Given the description of an element on the screen output the (x, y) to click on. 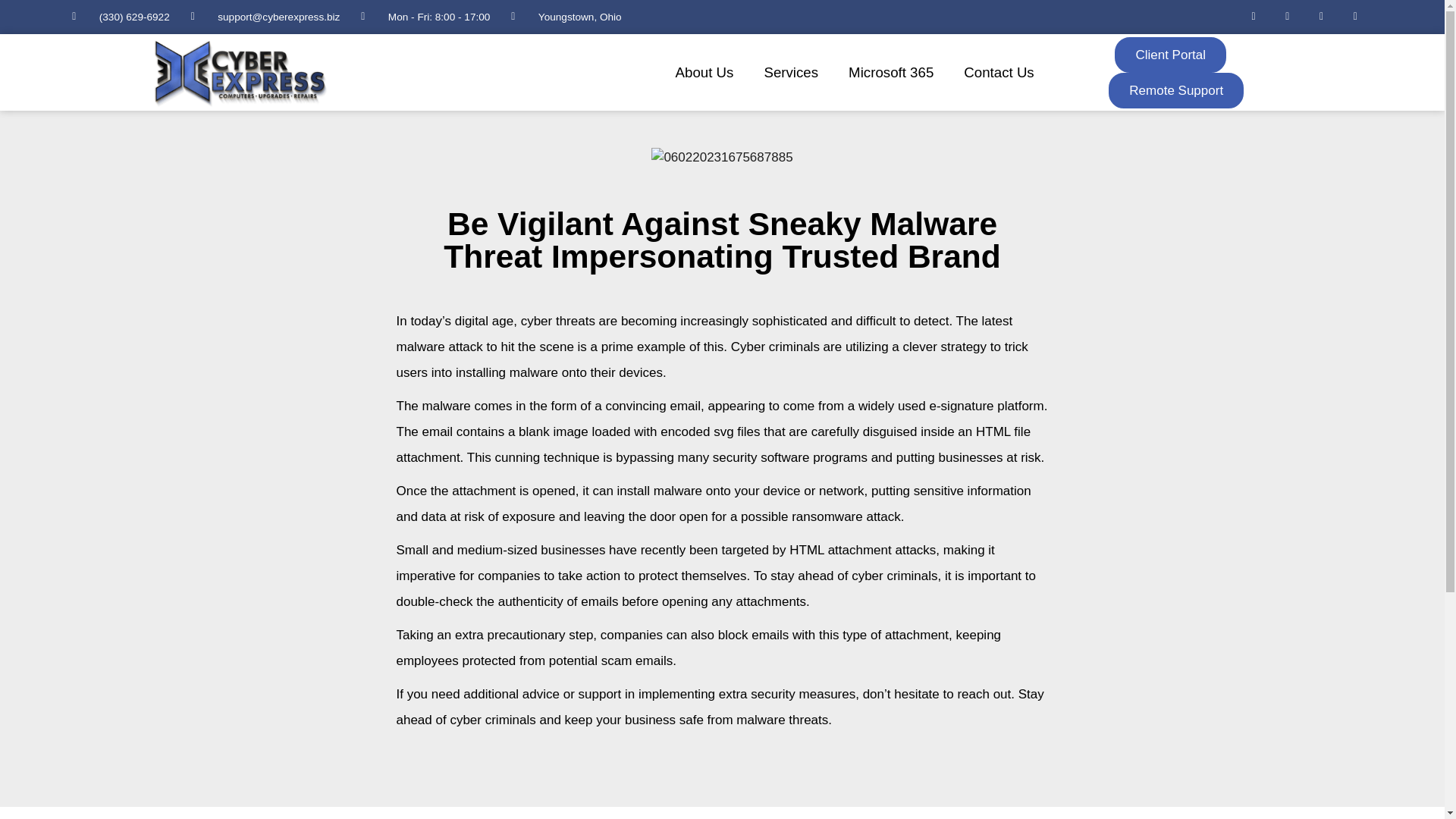
Microsoft 365 (890, 72)
Client Portal (1170, 54)
060220231675687885 (721, 157)
About Us (705, 72)
Services (790, 72)
Contact Us (998, 72)
Remote Support (1175, 90)
